Given the description of an element on the screen output the (x, y) to click on. 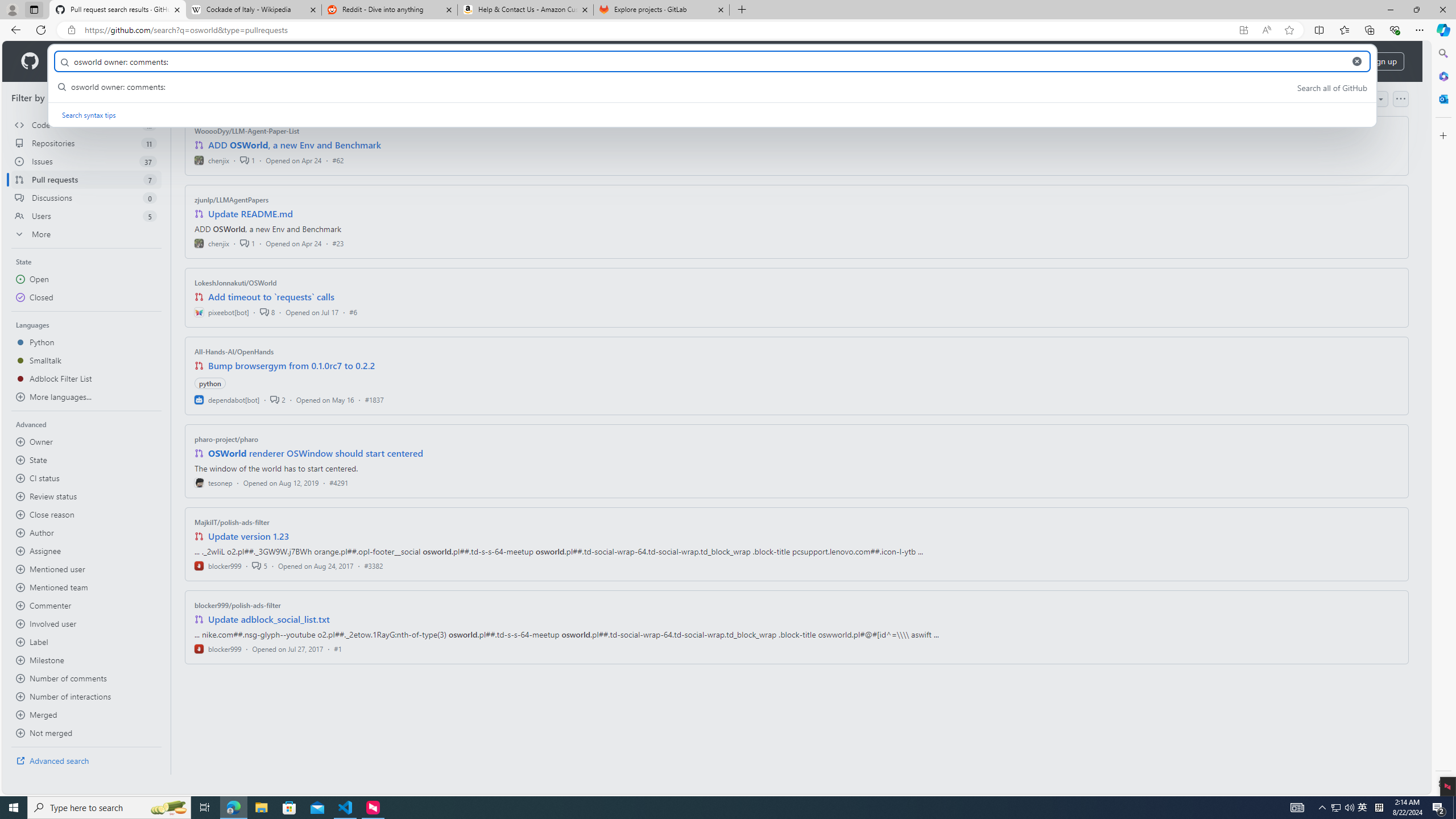
Enterprise (319, 60)
Update README.md (250, 213)
Resources (187, 60)
tesonep (213, 482)
Open column options (1401, 98)
Add timeout to `requests` calls (271, 296)
Draggable pane splitter (169, 427)
